Given the description of an element on the screen output the (x, y) to click on. 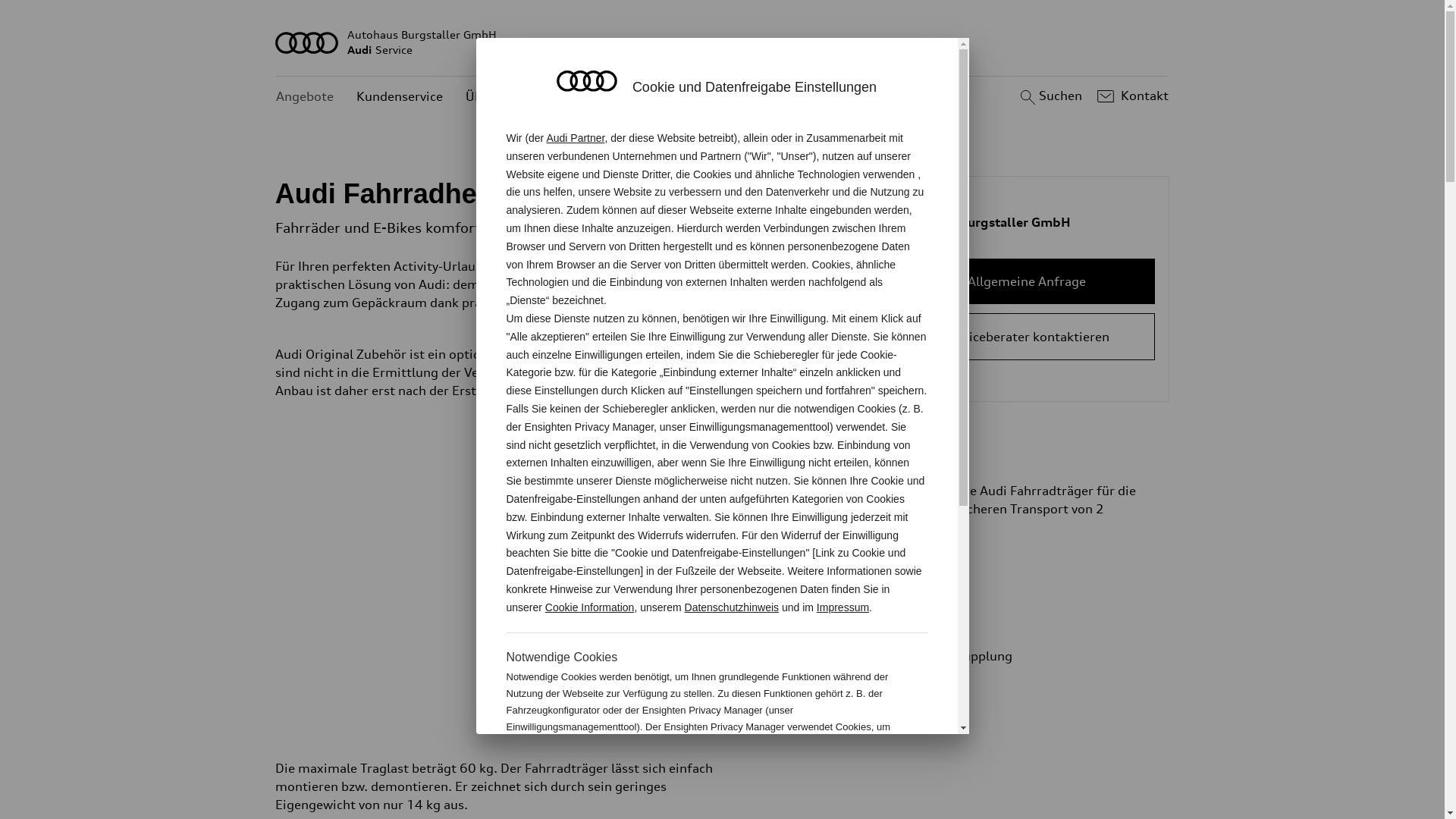
Datenschutzhinweis Element type: text (731, 607)
Kundenservice Element type: text (399, 96)
Serviceberater kontaktieren Element type: text (1025, 336)
Audi Partner Element type: text (575, 137)
Autohaus Burgstaller GmbH
AudiService Element type: text (722, 42)
Cookie Information Element type: text (589, 607)
Allgemeine Anfrage Element type: text (1025, 281)
Suchen Element type: text (1049, 96)
Cookie Information Element type: text (847, 776)
Kontakt Element type: text (1130, 96)
Impressum Element type: text (842, 607)
Angebote Element type: text (304, 96)
